Given the description of an element on the screen output the (x, y) to click on. 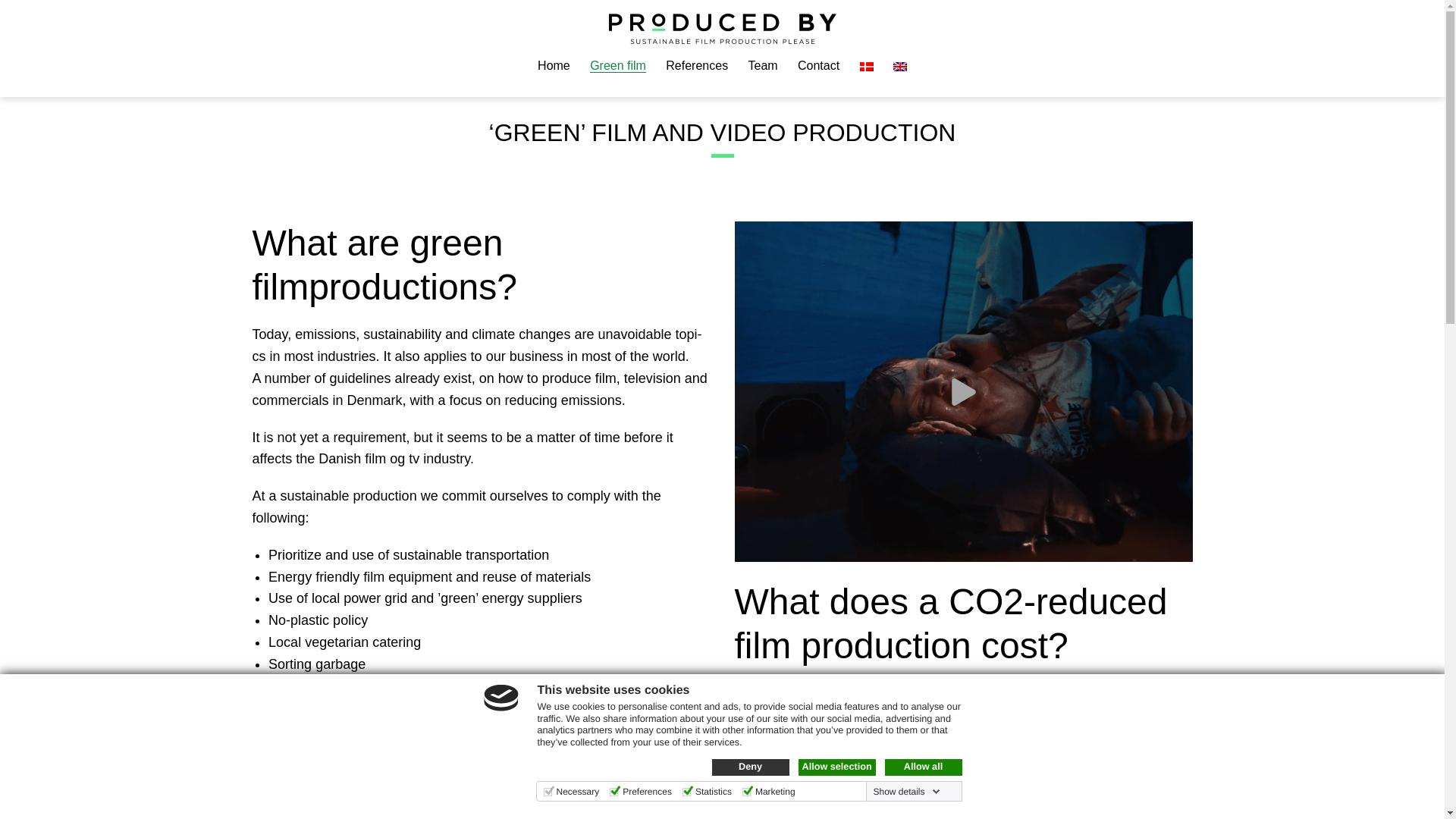
References (697, 66)
Green film (617, 66)
Green Producers Club (559, 782)
BFTP.DK (434, 782)
Show details (905, 791)
Allow selection (836, 767)
Deny (750, 767)
Allow all (921, 767)
Home (553, 66)
Team (762, 66)
Contact (818, 66)
